Given the description of an element on the screen output the (x, y) to click on. 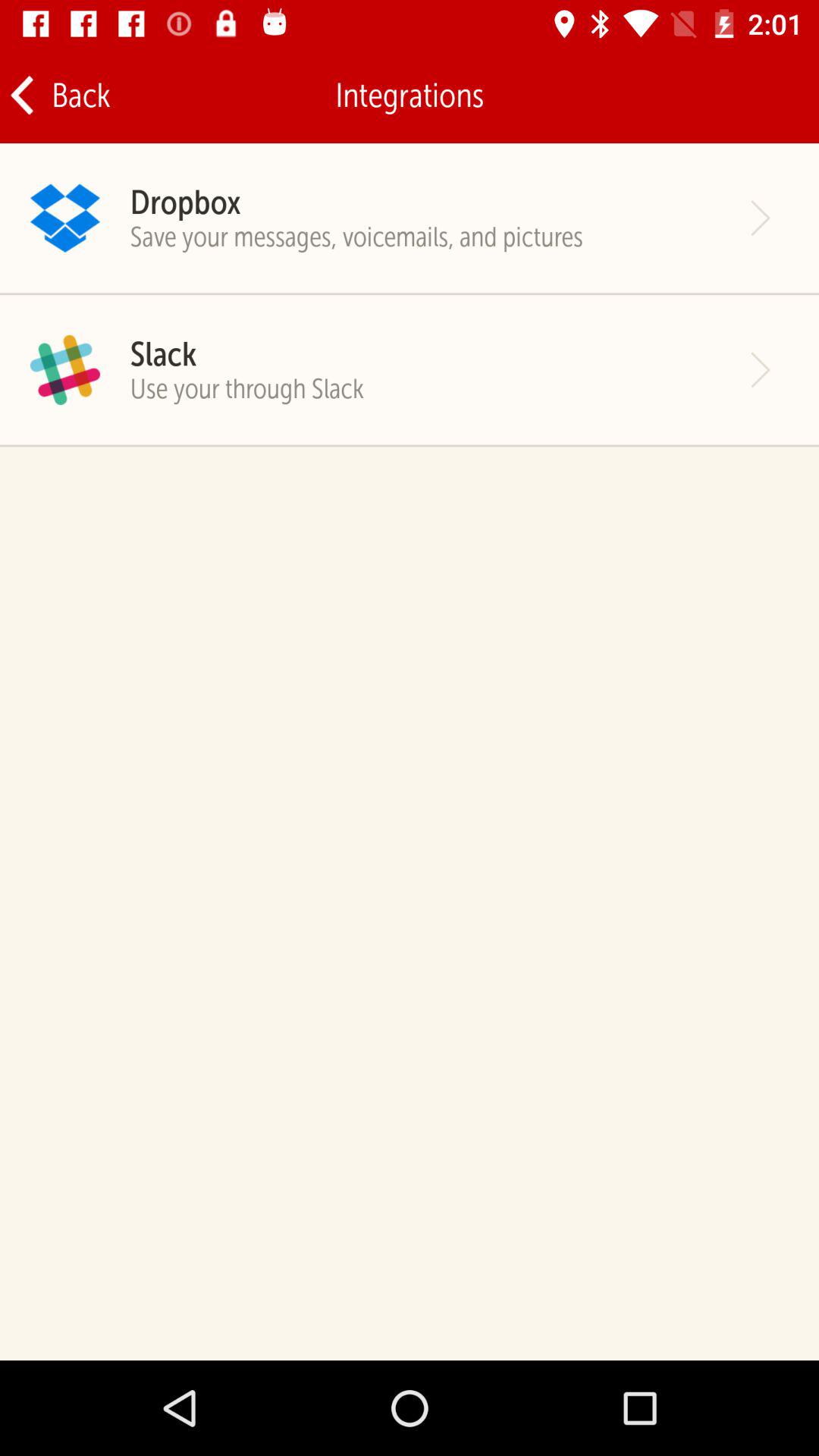
swipe until use your through (247, 388)
